Given the description of an element on the screen output the (x, y) to click on. 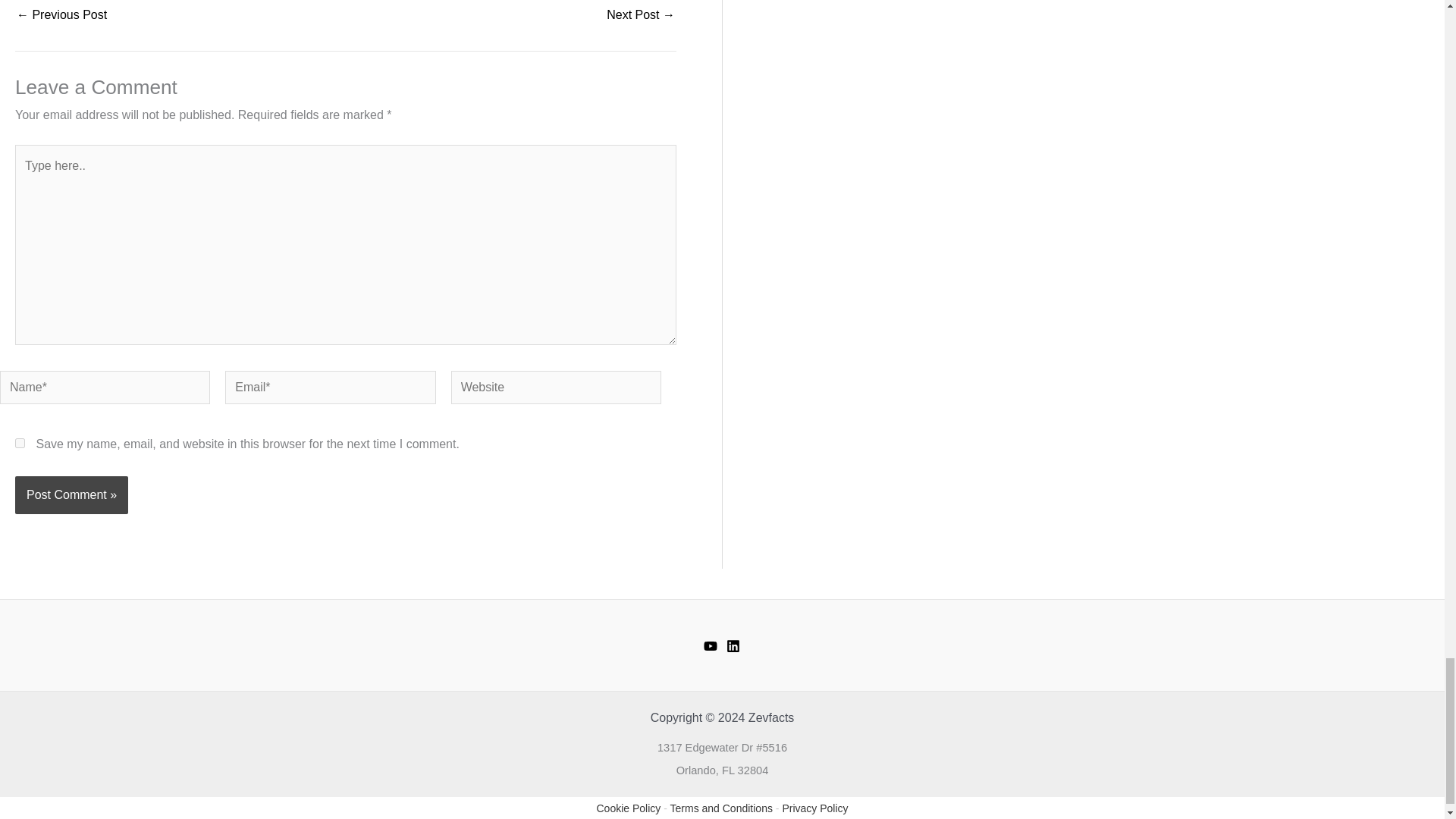
Does Wisconsin Have a ZEV Mandate? (61, 15)
Does Oregon Have a ZEV Mandate? (641, 15)
yes (19, 442)
